Given the description of an element on the screen output the (x, y) to click on. 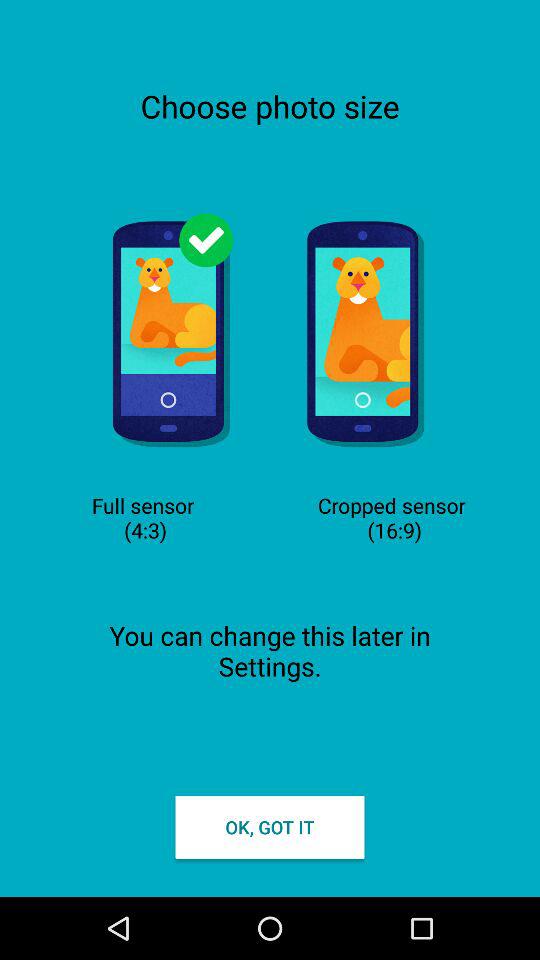
tap app below you can change icon (269, 826)
